Given the description of an element on the screen output the (x, y) to click on. 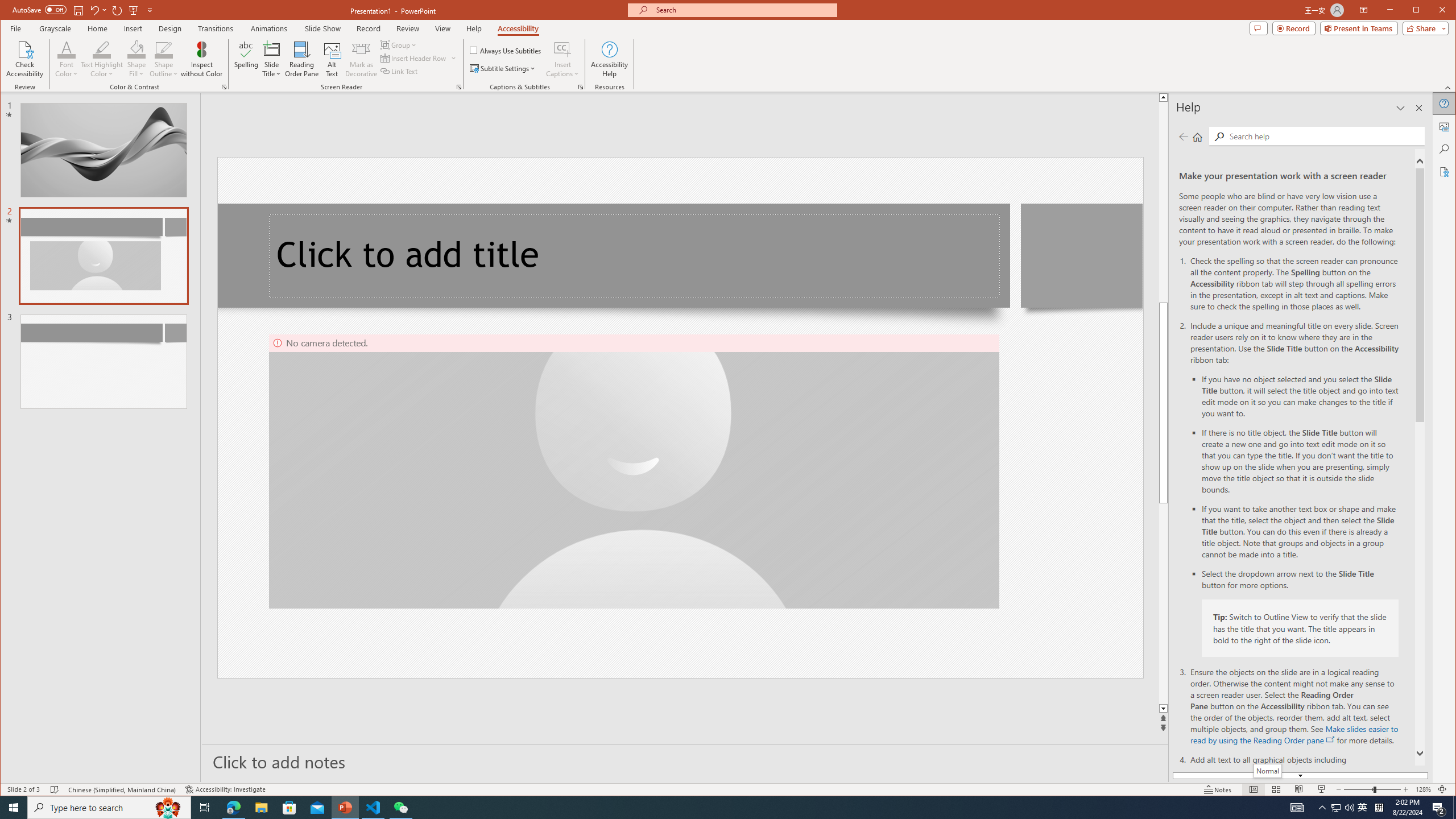
Reading Order Pane (301, 59)
WeChat - 1 running window (400, 807)
Microsoft Store (289, 807)
Q2790: 100% (1349, 807)
Save (77, 9)
Slide Notes (685, 761)
Microsoft Edge - 1 running window (233, 807)
Check Accessibility (25, 59)
